Given the description of an element on the screen output the (x, y) to click on. 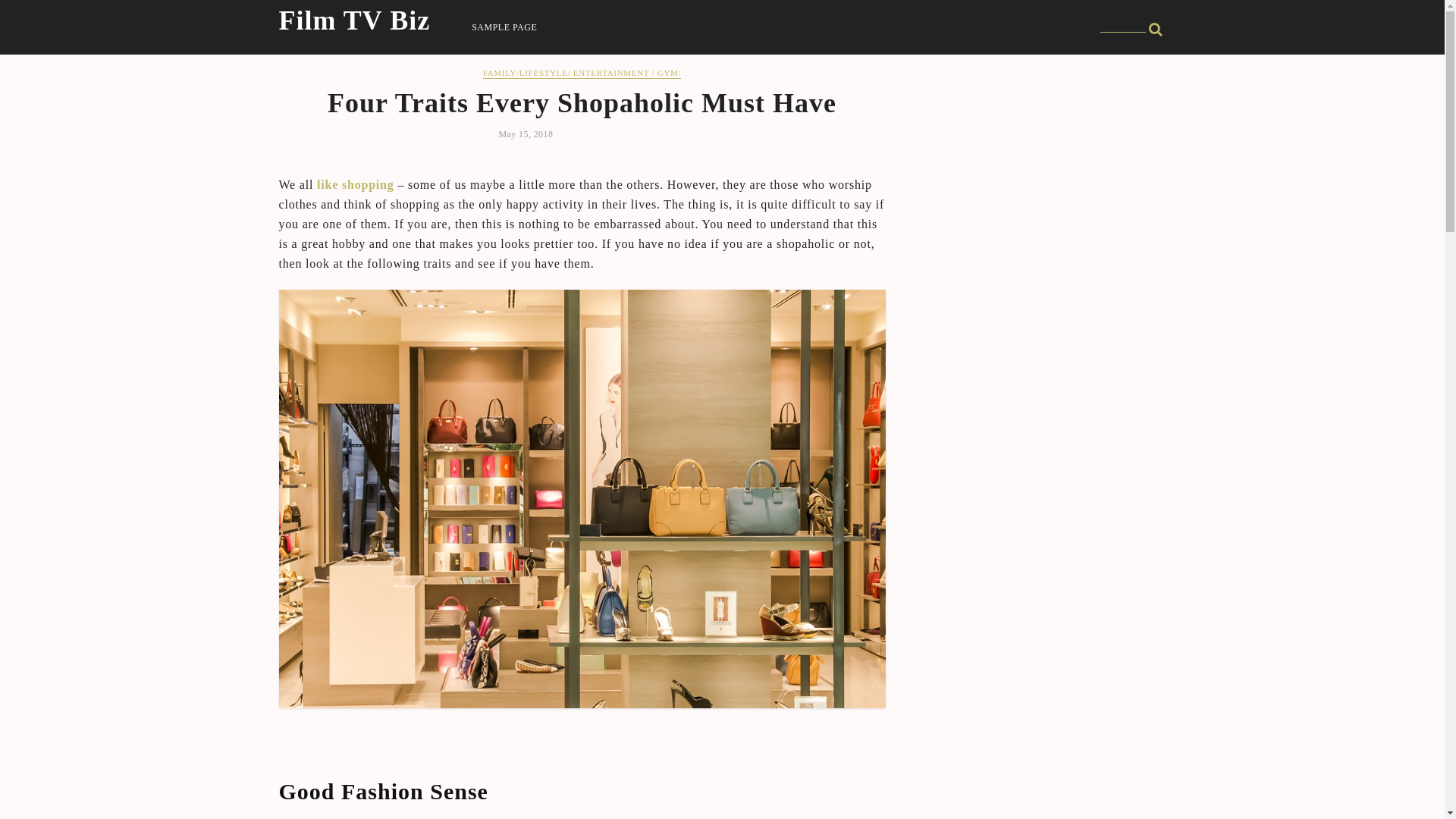
Film TV Biz Element type: text (354, 20)
SAMPLE PAGE Element type: text (504, 26)
like shopping Element type: text (355, 184)
FAMILY/LIFESTYLE/ ENTERTAINMENT / GYM/ Element type: text (582, 72)
